Given the description of an element on the screen output the (x, y) to click on. 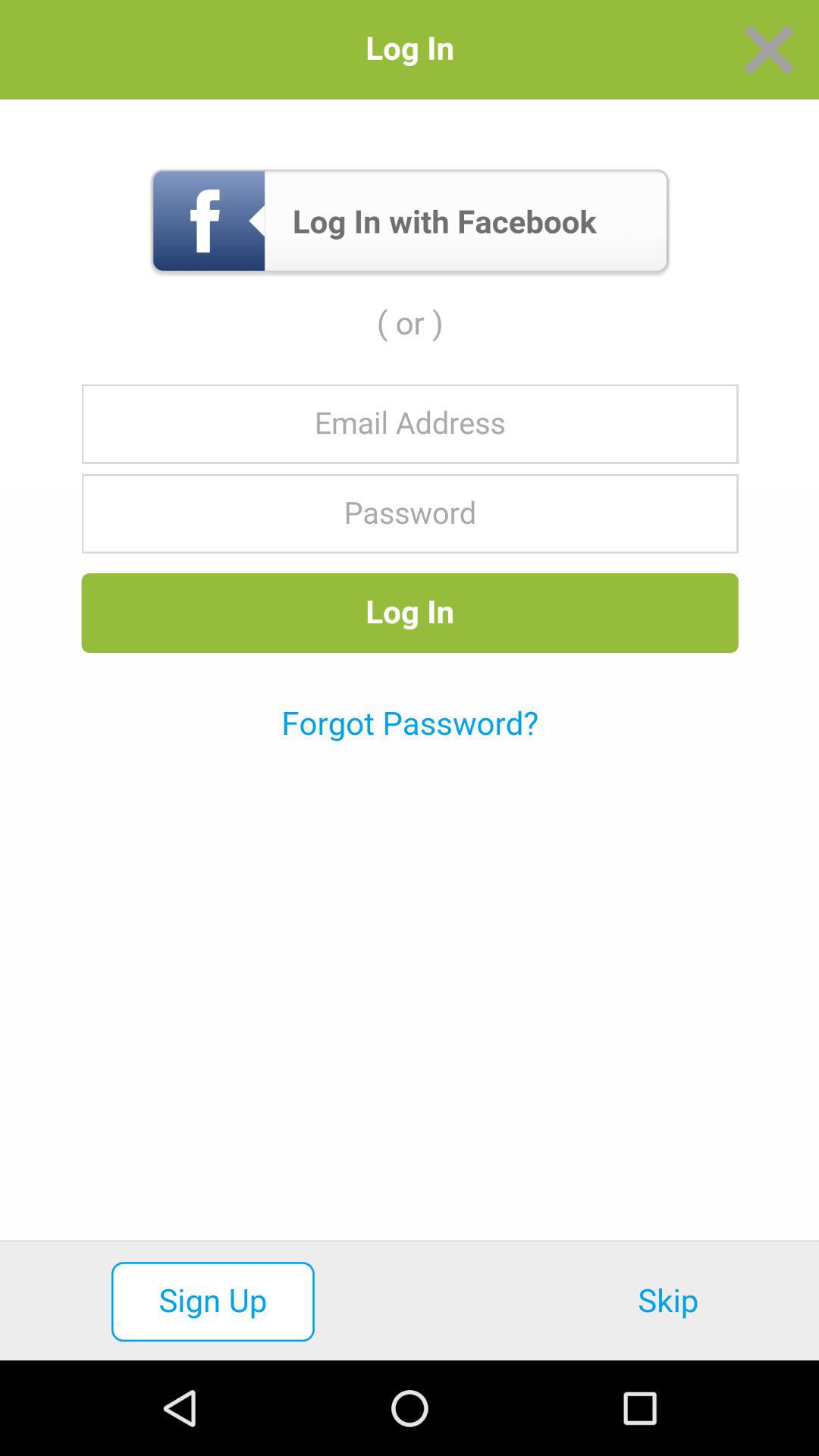
close window (769, 49)
